Given the description of an element on the screen output the (x, y) to click on. 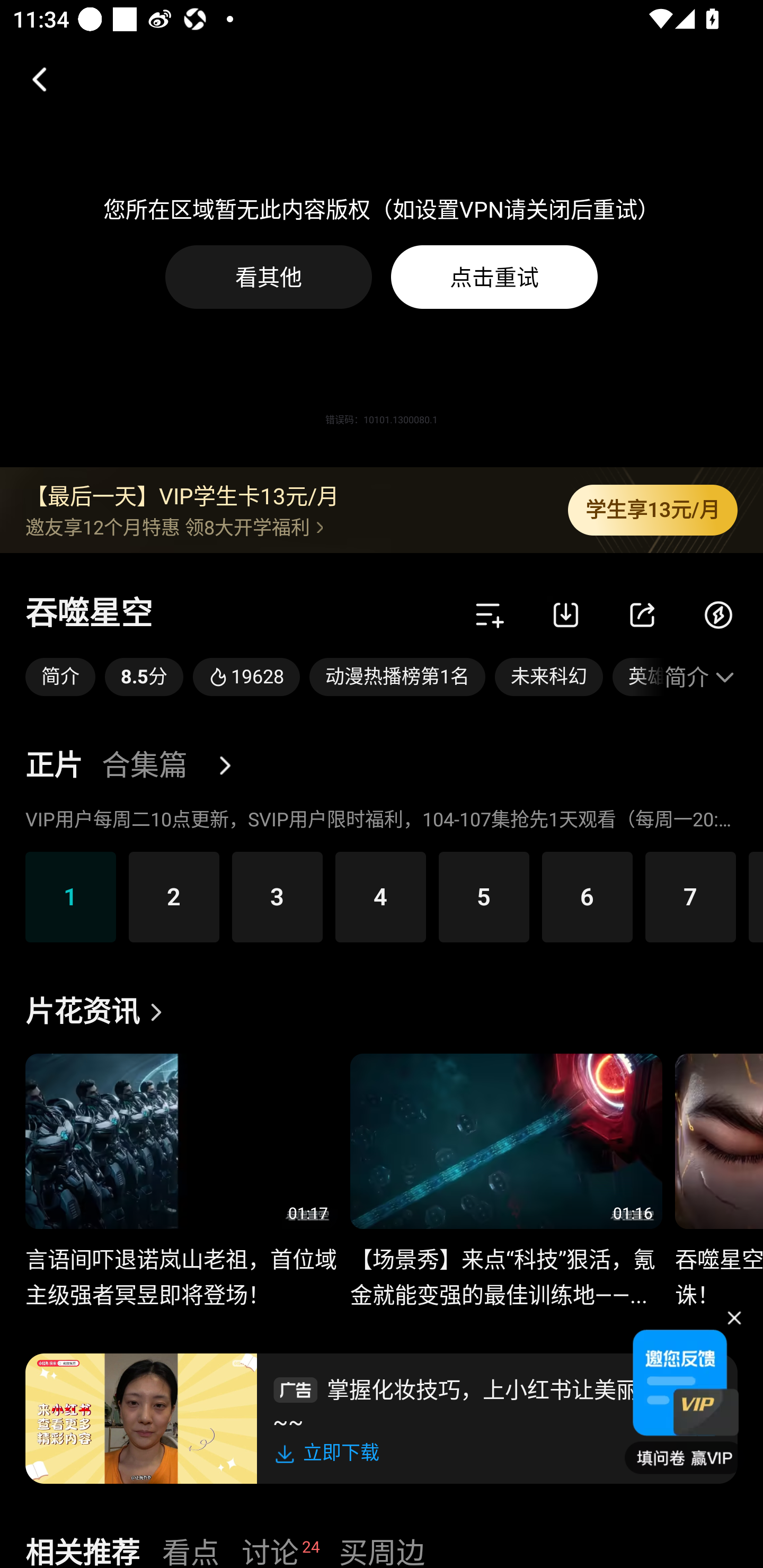
返回，按钮 (31, 78)
看其他 您所在区域暂无此内容版权（如设置VPN请关闭后重试） 看其他按钮 (268, 276)
点击重试 您所在区域暂无此内容版权（如设置VPN请关闭后重试） 点击重试按钮 (493, 276)
学生享13元/月 (652, 510)
邀友享12个月特惠 领8大开学福利 (283, 526)
吞噬星空 (88, 614)
加追,双击可加追,按钮 (489, 614)
下载,链接 (566, 614)
分享,链接 (642, 614)
发电,链接 (718, 614)
简介 简介,链接 (60, 677)
8.5分 8.5分,链接 (144, 677)
19628 热度值 19628,链接 (246, 677)
动漫热播榜第1名 动漫热播榜第1名,链接 (397, 677)
未来科幻 未来科幻,链接 (548, 677)
英雄成长 英雄成长,链接 (638, 677)
简介 (700, 677)
正片 (53, 765)
合集篇 (144, 765)
更多,链接 (231, 765)
第1集 1 (70, 896)
第2集 2 (173, 896)
第3集 3 (276, 896)
第4集 4 (380, 896)
第5集 5 (483, 896)
第6集 6 (586, 896)
第7集 7 (690, 896)
片花资讯 链接 (98, 1011)
言语间吓退诺岚山老祖，首位域主级强者冥昱即将登场！ (181, 1267)
【场景秀】来点“科技”狠活，氪金就能变强的最佳训练地——... (506, 1267)
imgimg掌握化妆技巧，上小红书让美丽不等待~~ (497, 1403)
立即下载 (330, 1452)
相关推荐 (82, 1549)
看点 (190, 1549)
讨论 (270, 1549)
买周边 (381, 1549)
